Given the description of an element on the screen output the (x, y) to click on. 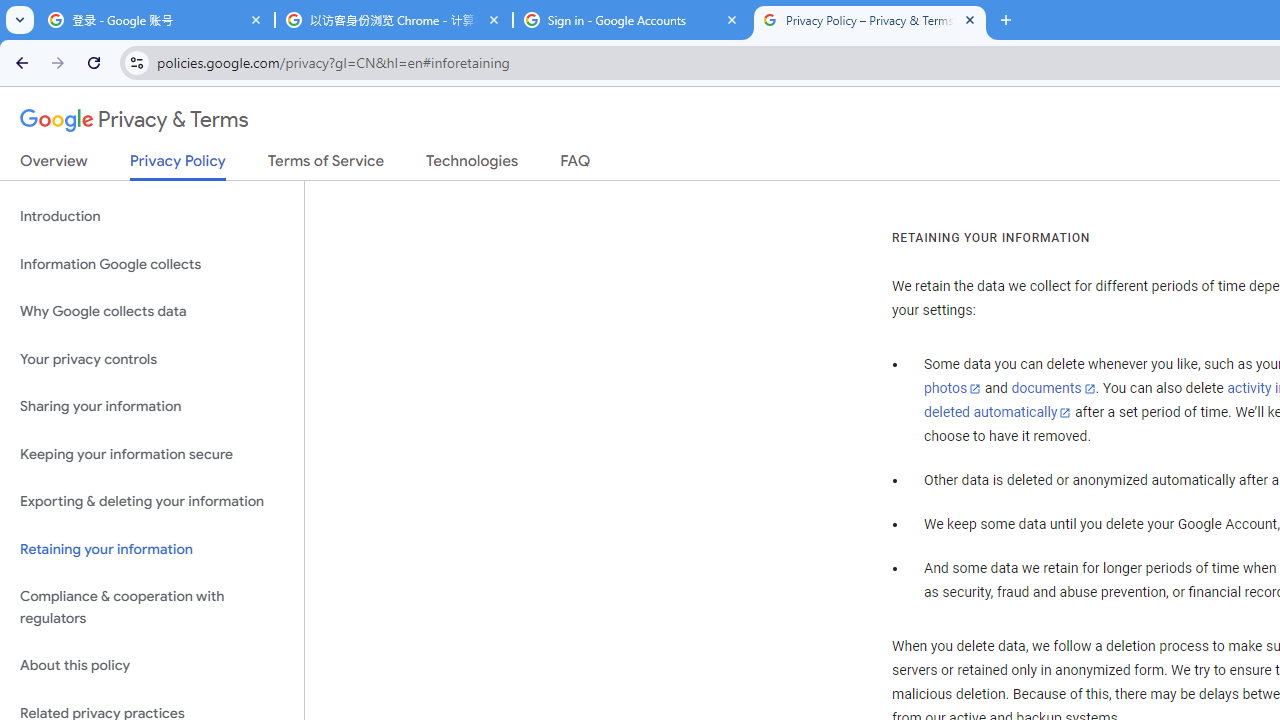
FAQ (575, 165)
Terms of Service (326, 165)
Technologies (472, 165)
Overview (54, 165)
Introduction (152, 216)
Privacy Policy (177, 166)
Exporting & deleting your information (152, 502)
photos (952, 389)
Privacy & Terms (134, 120)
